Given the description of an element on the screen output the (x, y) to click on. 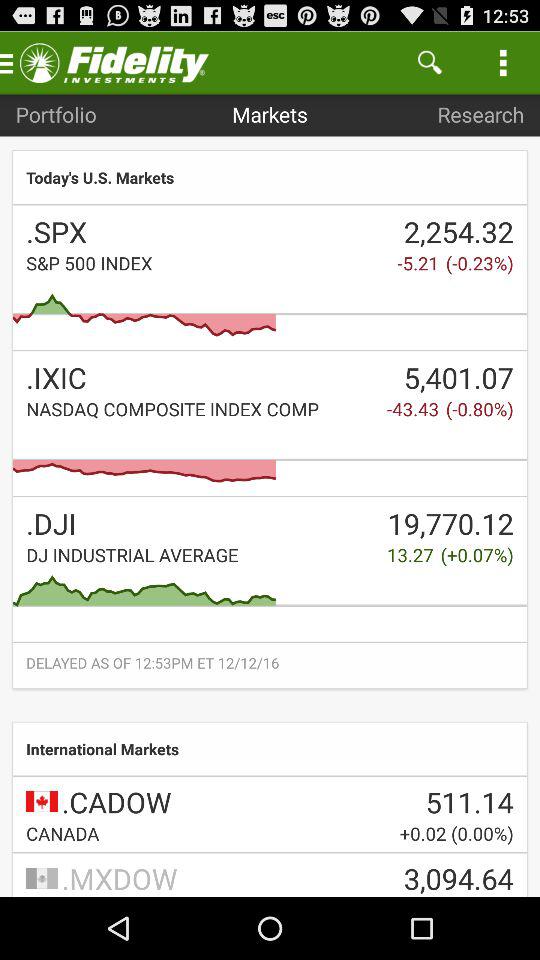
jump to the research app (480, 114)
